Given the description of an element on the screen output the (x, y) to click on. 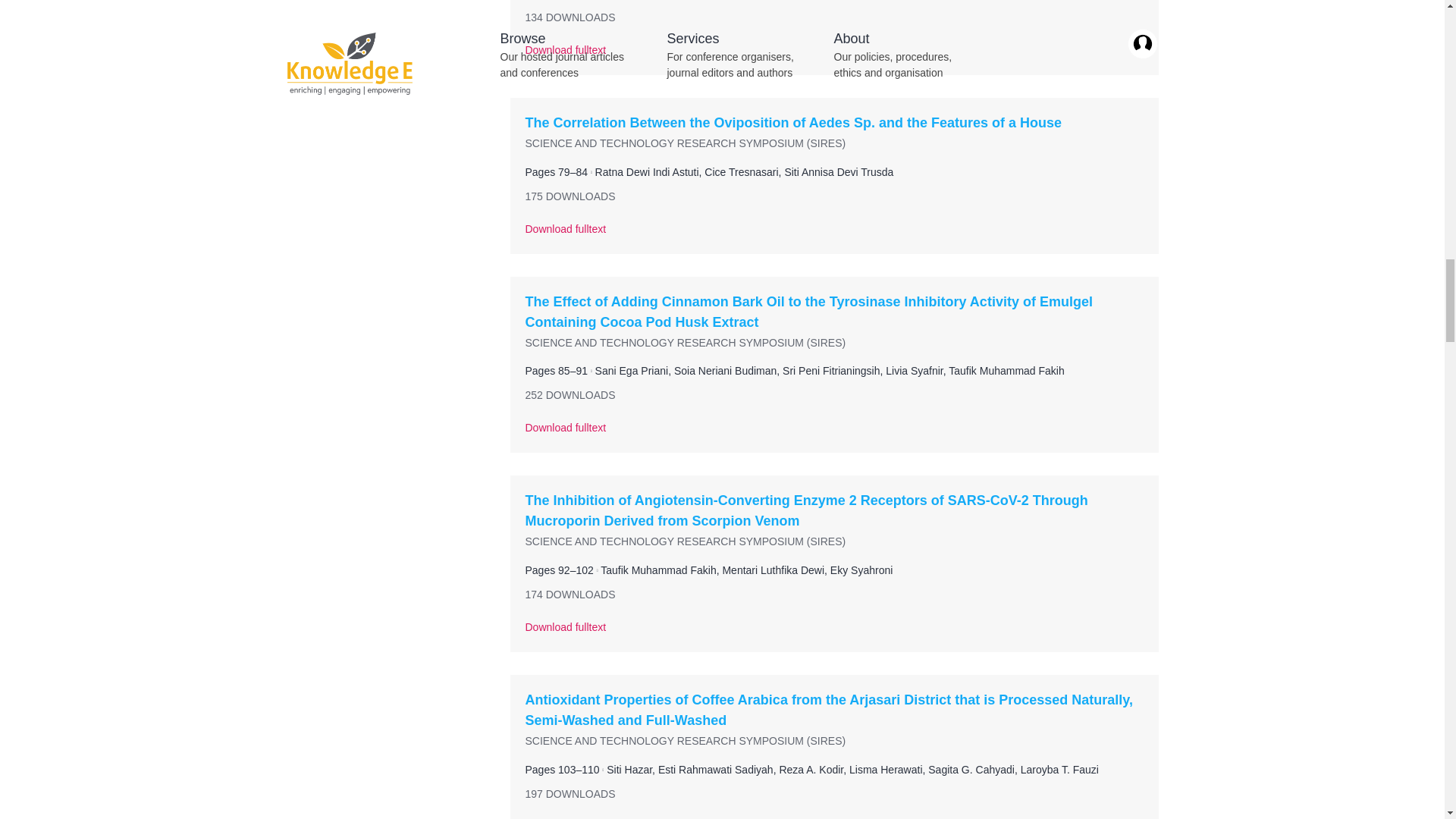
Download fulltext (833, 633)
Download fulltext (833, 235)
Download fulltext (833, 434)
Download fulltext (833, 57)
